Given the description of an element on the screen output the (x, y) to click on. 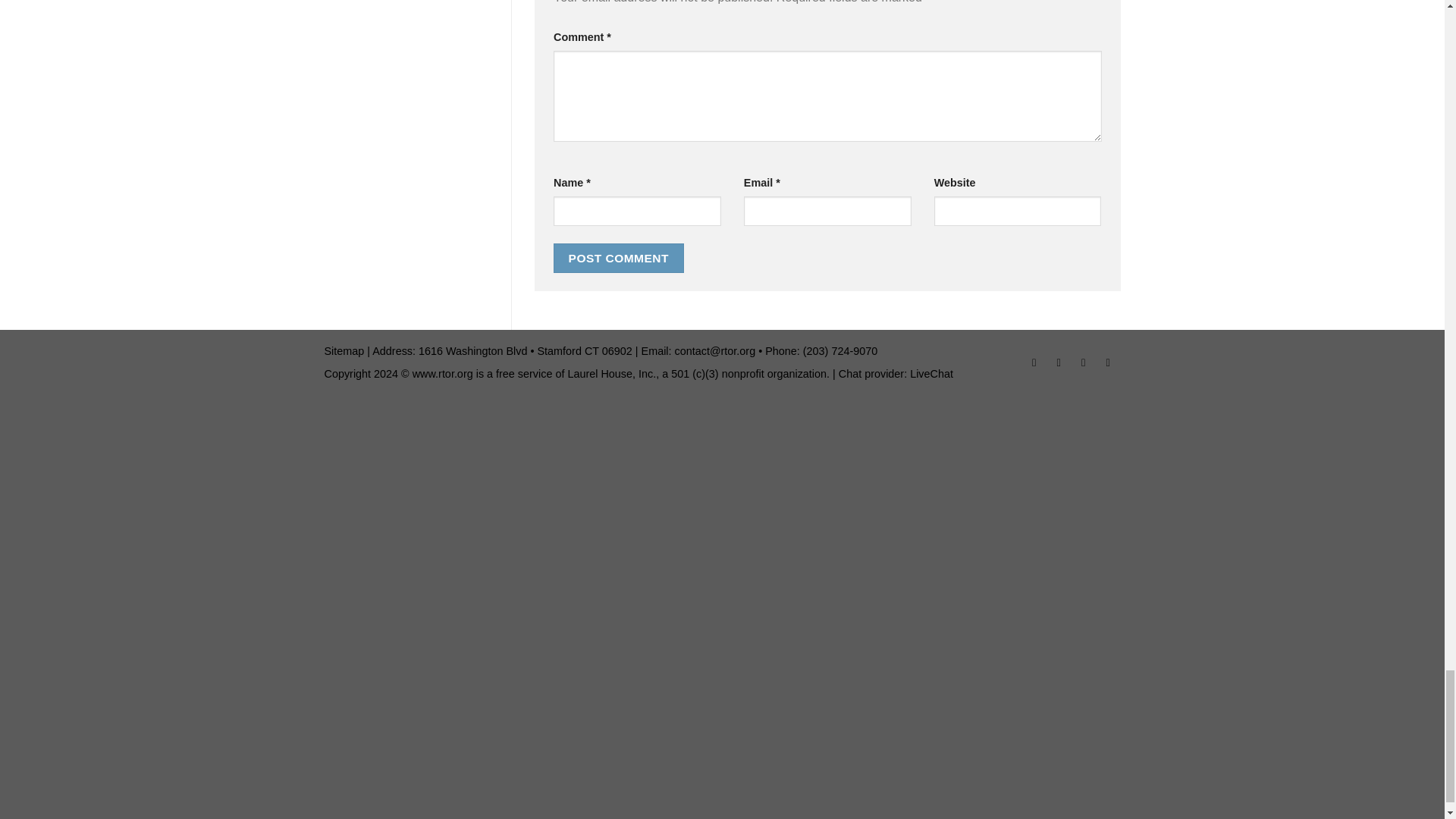
Subscribe to RSS (1107, 363)
Follow on Instagram (1058, 363)
Follow on Facebook (1034, 363)
Post Comment (618, 257)
Follow on Twitter (1082, 363)
